Given the description of an element on the screen output the (x, y) to click on. 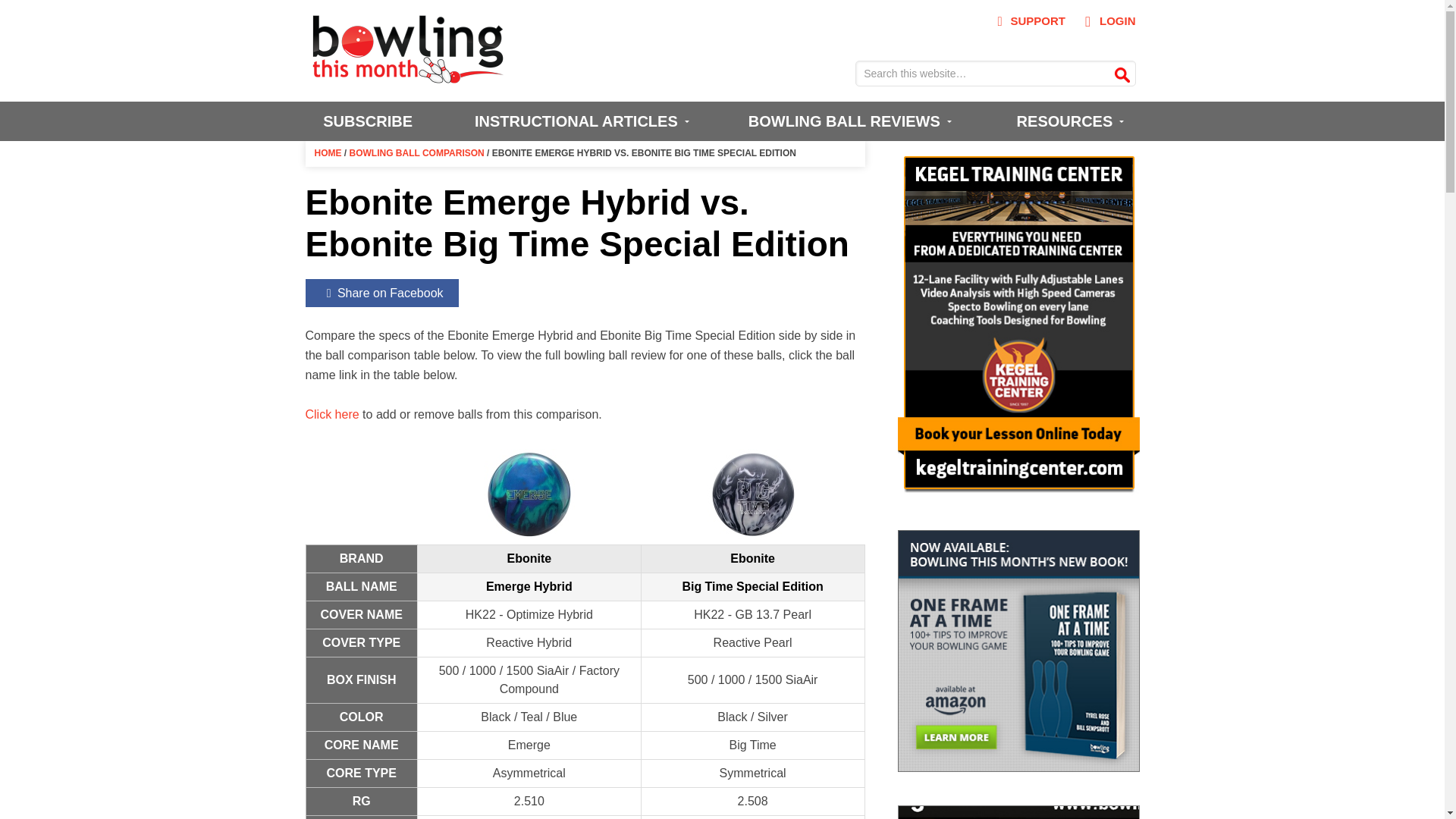
LOGIN (1106, 21)
Instructional Articles (579, 120)
SUBSCRIBE (367, 120)
SUPPORT (1028, 21)
BOWLING BALL REVIEWS (847, 120)
Bowling Ball Reviews (847, 120)
Share on Facebook (381, 293)
INSTRUCTIONAL ARTICLES (579, 120)
Bowling This Month (407, 75)
